Given the description of an element on the screen output the (x, y) to click on. 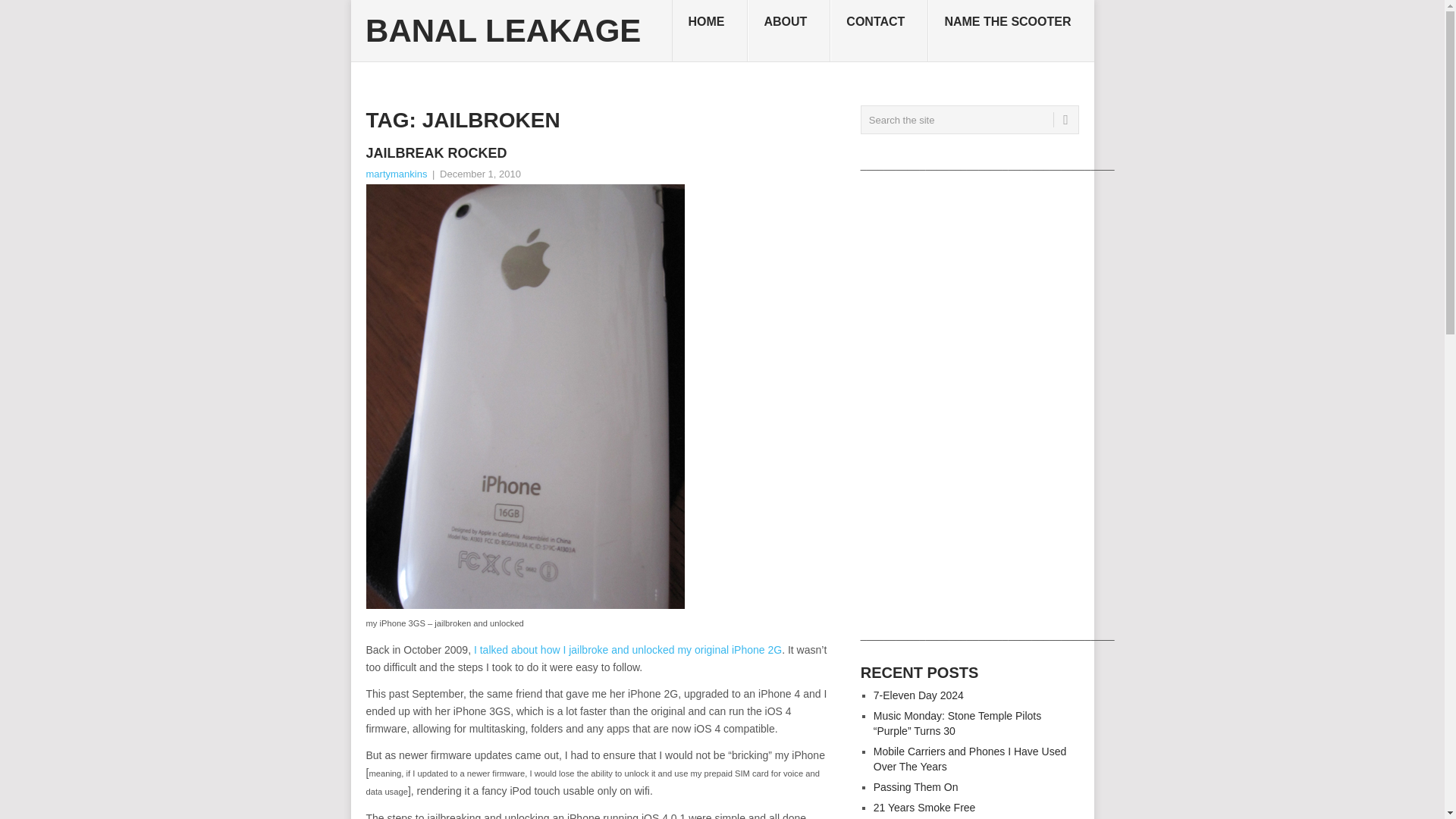
CONTACT (878, 31)
Mobile Carriers and Phones I Have Used Over The Years (969, 759)
ABOUT (788, 31)
7-Eleven Day 2024 (918, 695)
NAME THE SCOOTER (1010, 31)
Advertisement (969, 399)
Passing Them On (915, 787)
HOME (709, 31)
JAILBREAK ROCKED (601, 153)
BANAL LEAKAGE (502, 30)
21 Years Smoke Free (924, 807)
Jailbreak Rocked (601, 153)
Search the site (969, 119)
Posts by martymankins (395, 173)
